Given the description of an element on the screen output the (x, y) to click on. 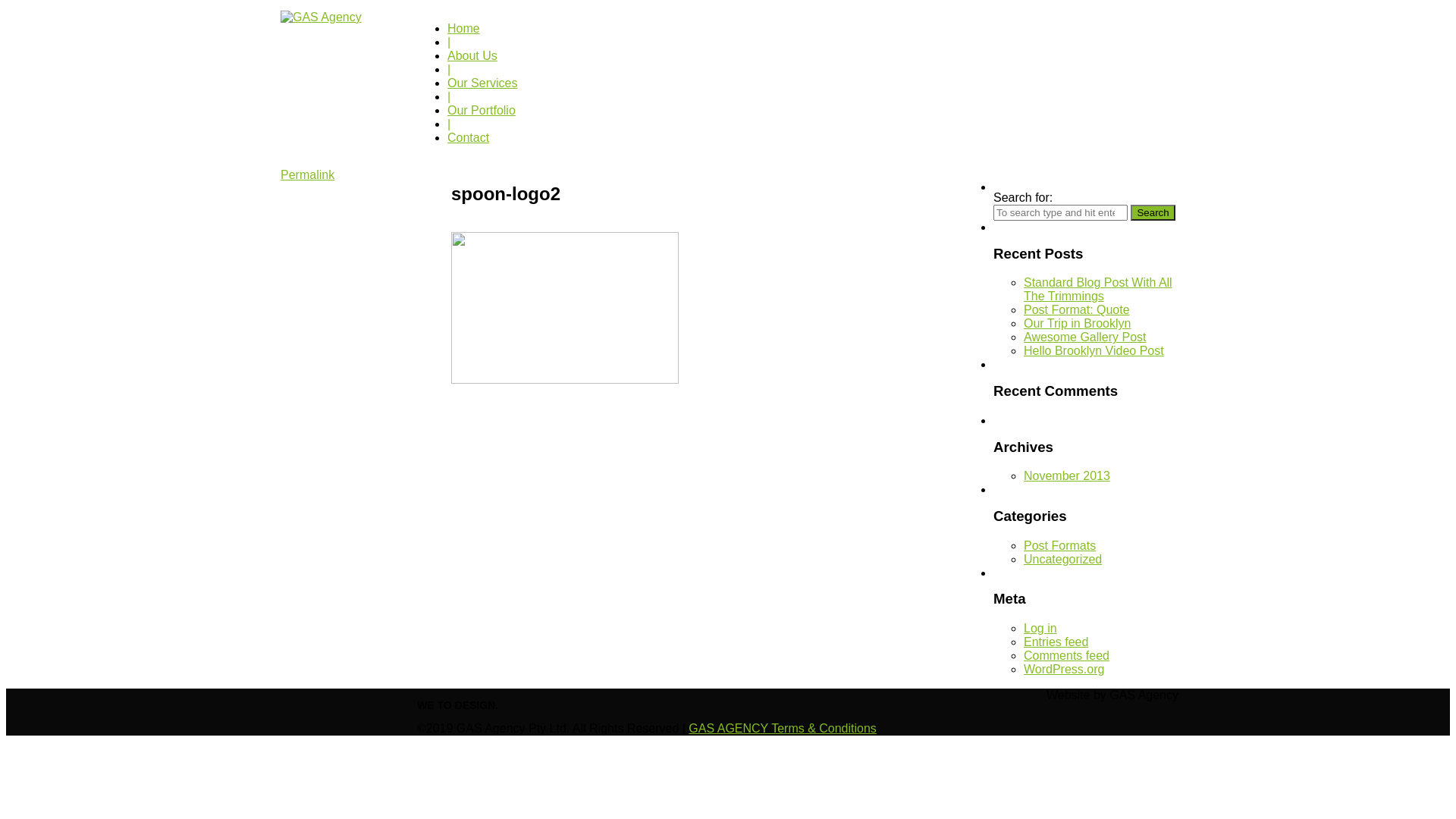
| Element type: text (448, 41)
Uncategorized Element type: text (1062, 558)
Search Element type: text (1152, 212)
Our Portfolio Element type: text (481, 109)
November 2013 Element type: text (1066, 475)
| Element type: text (448, 68)
About Us Element type: text (472, 55)
Post Format: Quote Element type: text (1076, 309)
Standard Blog Post With All The Trimmings Element type: text (1097, 289)
Awesome Gallery Post Element type: text (1084, 336)
Contact Element type: text (468, 137)
Home Element type: text (463, 27)
Permalink Element type: text (307, 174)
Search for: Element type: hover (1060, 212)
| Element type: text (448, 96)
Our Services Element type: text (482, 82)
Our Trip in Brooklyn Element type: text (1076, 322)
Hello Brooklyn Video Post Element type: text (1093, 350)
Entries feed Element type: text (1055, 641)
WordPress.org Element type: text (1063, 668)
GAS Agency Element type: hover (320, 15)
Comments feed Element type: text (1066, 655)
Log in Element type: text (1040, 627)
GAS AGENCY Terms & Conditions Element type: text (782, 727)
| Element type: text (448, 123)
Post Formats Element type: text (1059, 545)
